Given the description of an element on the screen output the (x, y) to click on. 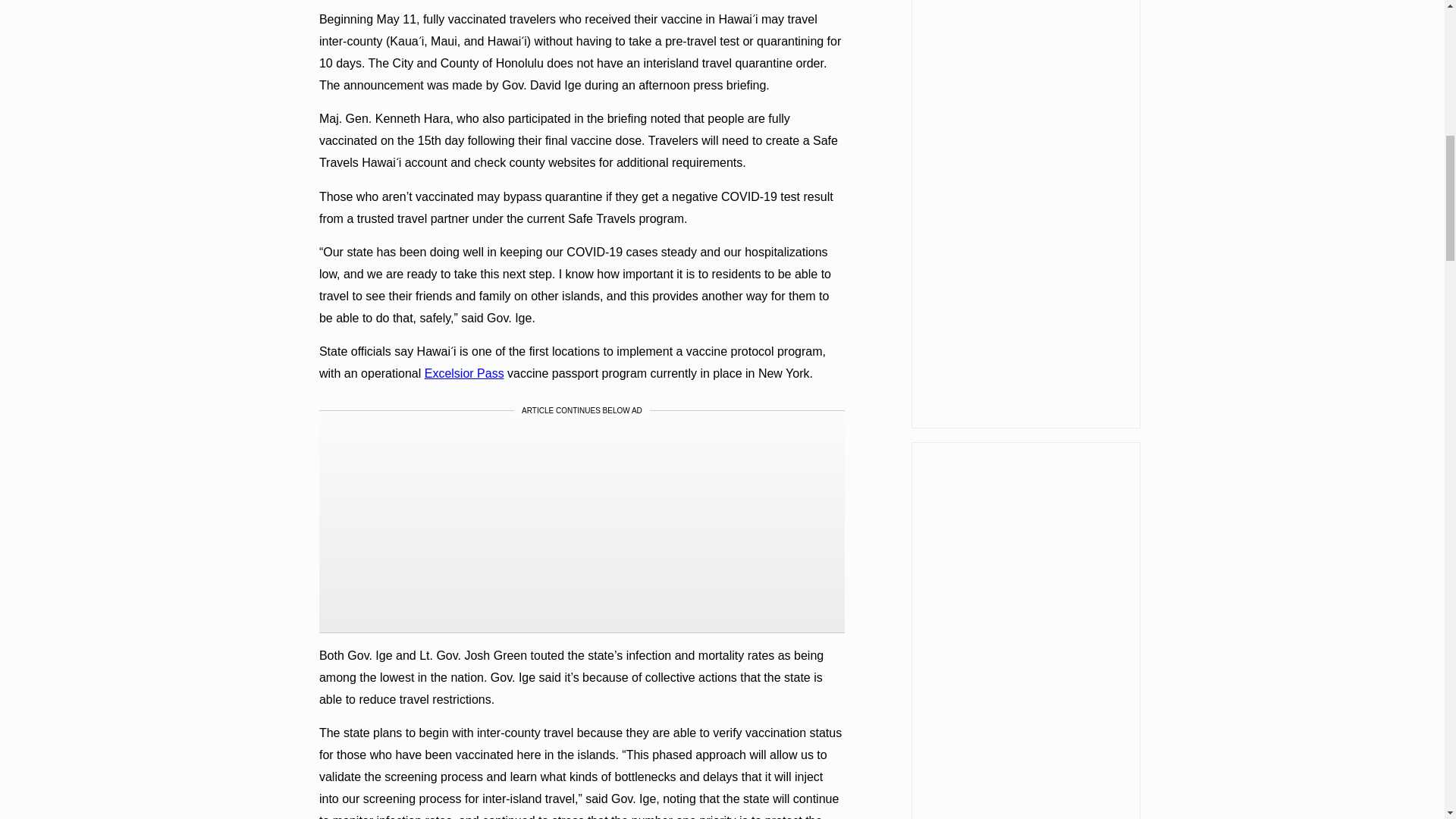
Arrow Up (1404, 15)
3rd party ad content (581, 525)
